Given the description of an element on the screen output the (x, y) to click on. 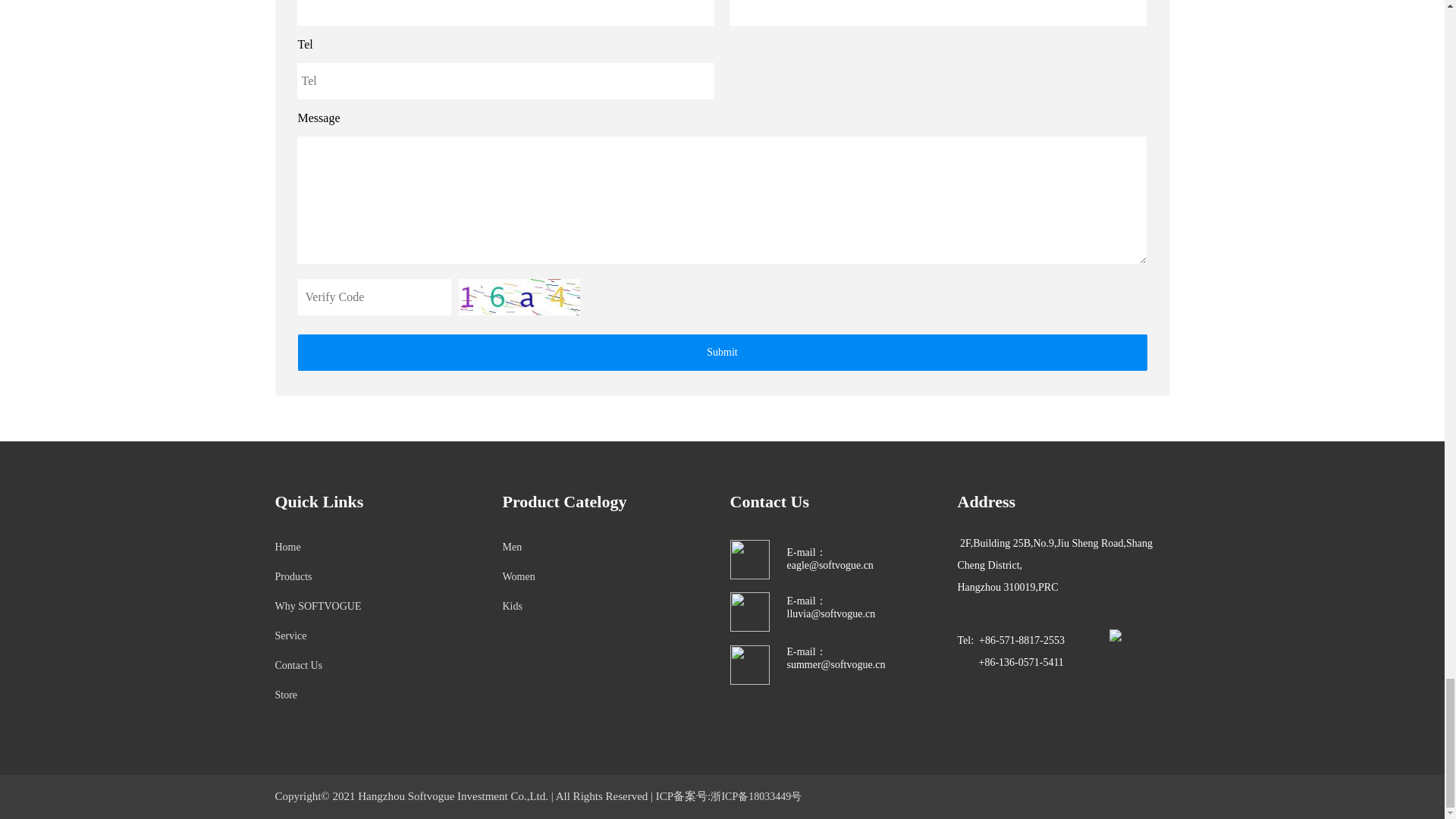
Home (287, 546)
